Given the description of an element on the screen output the (x, y) to click on. 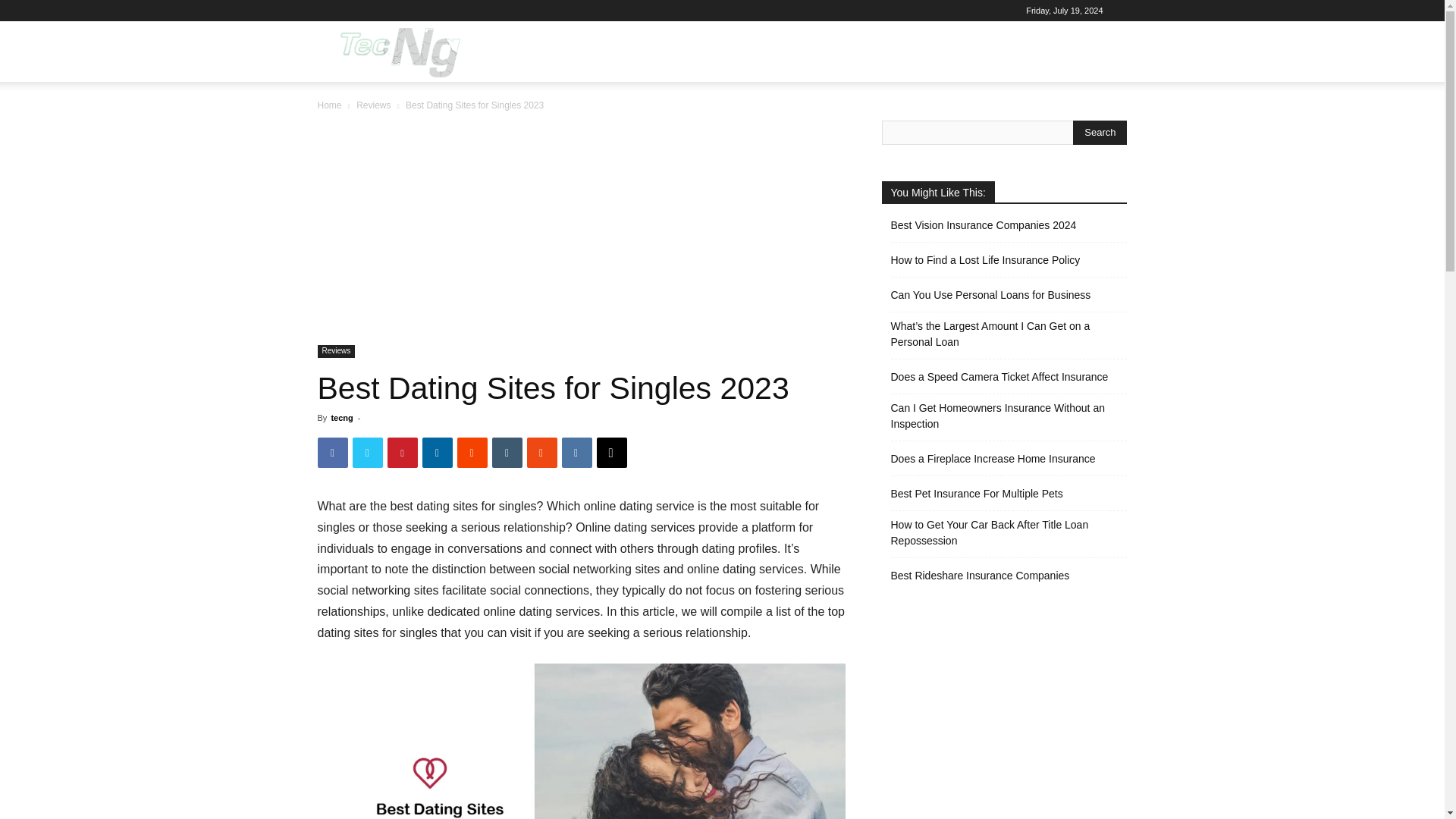
LOANS (695, 51)
Advertisement (580, 232)
Reviews (336, 350)
Tumblr (506, 452)
Home (328, 104)
Search (1085, 124)
Twitter (366, 452)
SCHOLARSHIP (978, 51)
tecng (341, 417)
Reviews (373, 104)
Pinterest (401, 452)
Facebook (332, 452)
REVIEWS (809, 51)
ReddIt (471, 452)
TecNg (398, 51)
